Given the description of an element on the screen output the (x, y) to click on. 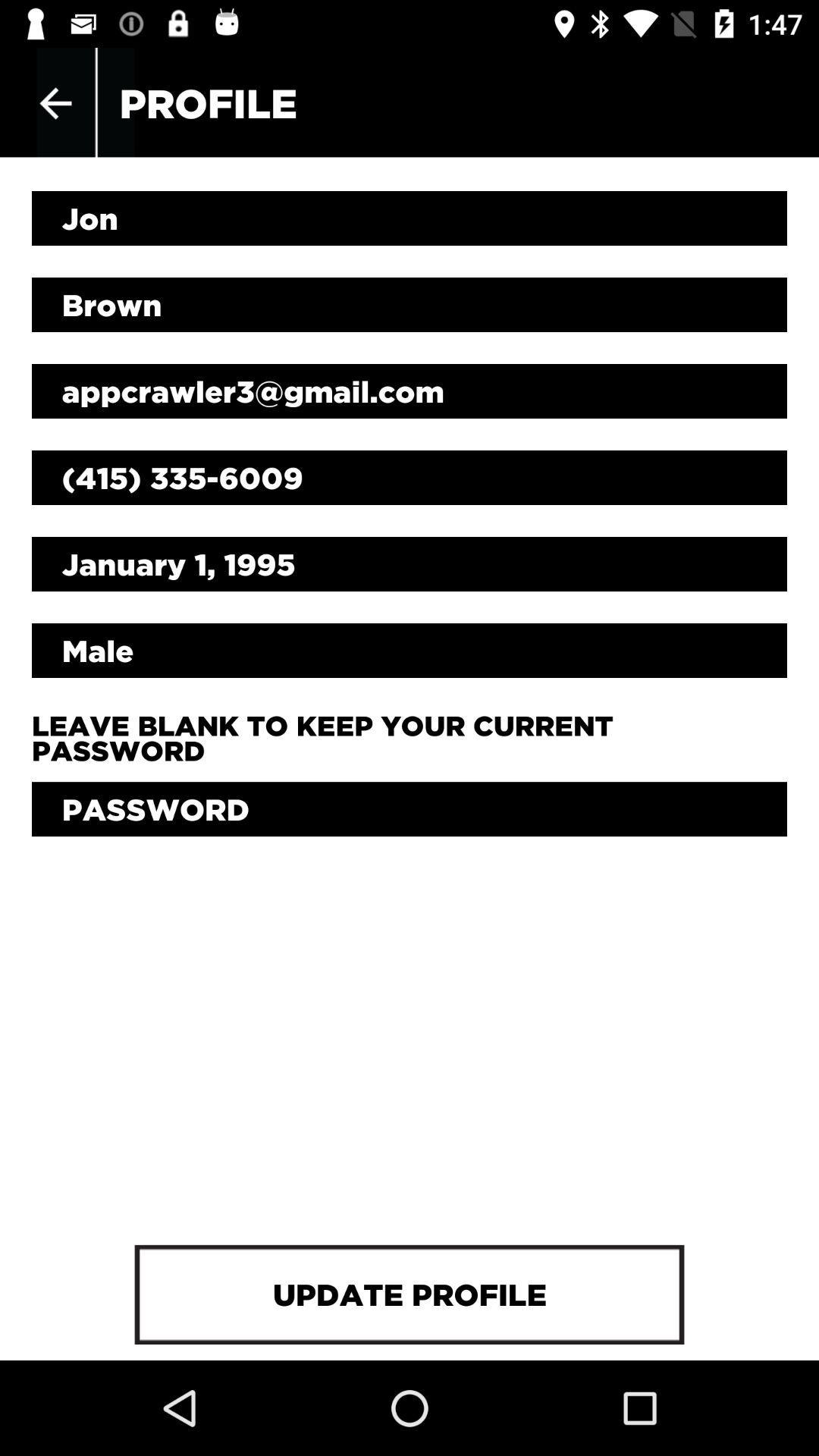
enter the password (409, 809)
